Given the description of an element on the screen output the (x, y) to click on. 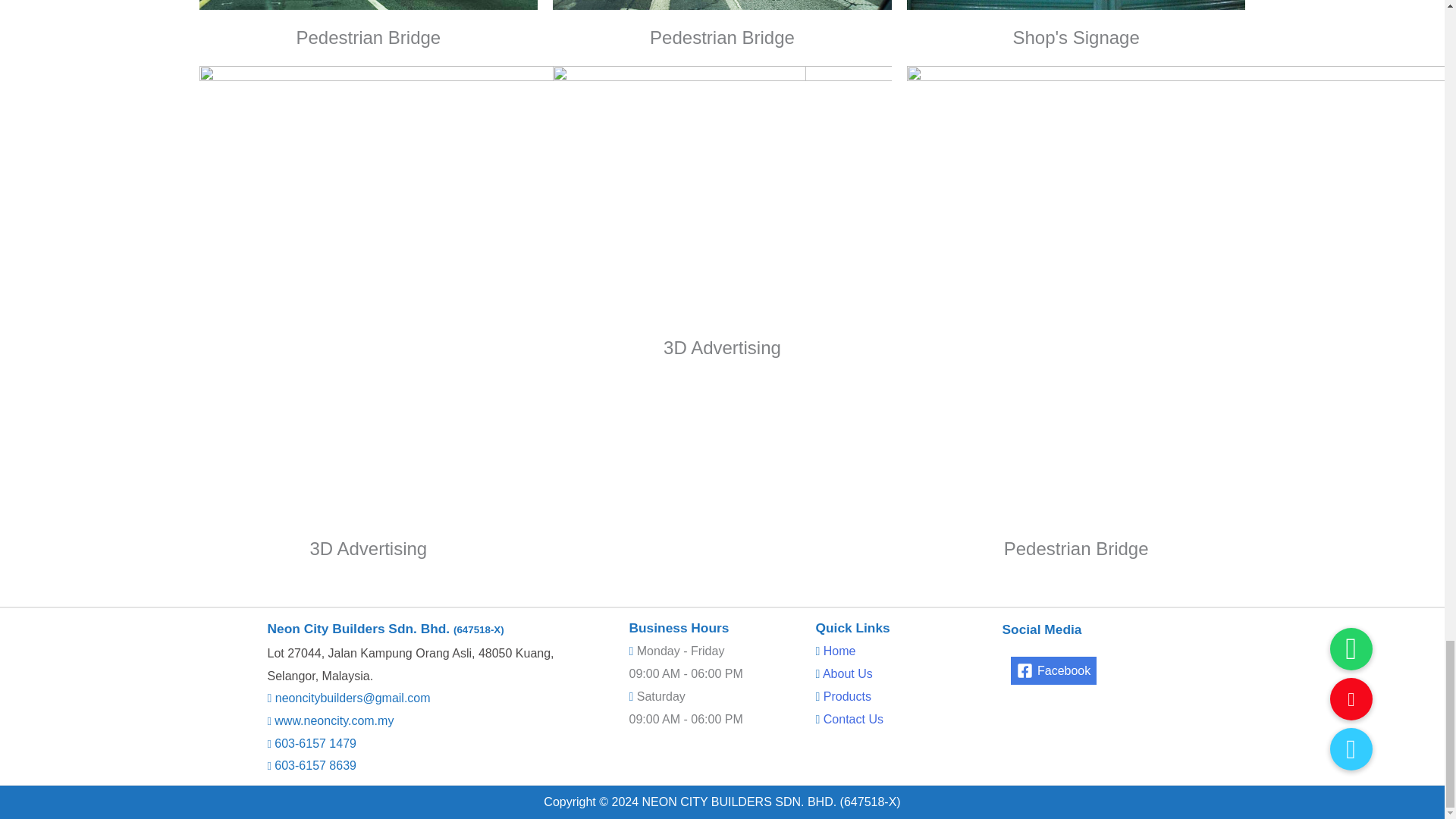
603-6157 8639 (313, 765)
www.neoncity.com.my (332, 720)
Contact Us (853, 718)
Facebook (1053, 670)
About Us (847, 673)
603-6157 1479 (313, 743)
Home (840, 650)
Products (847, 696)
